Given the description of an element on the screen output the (x, y) to click on. 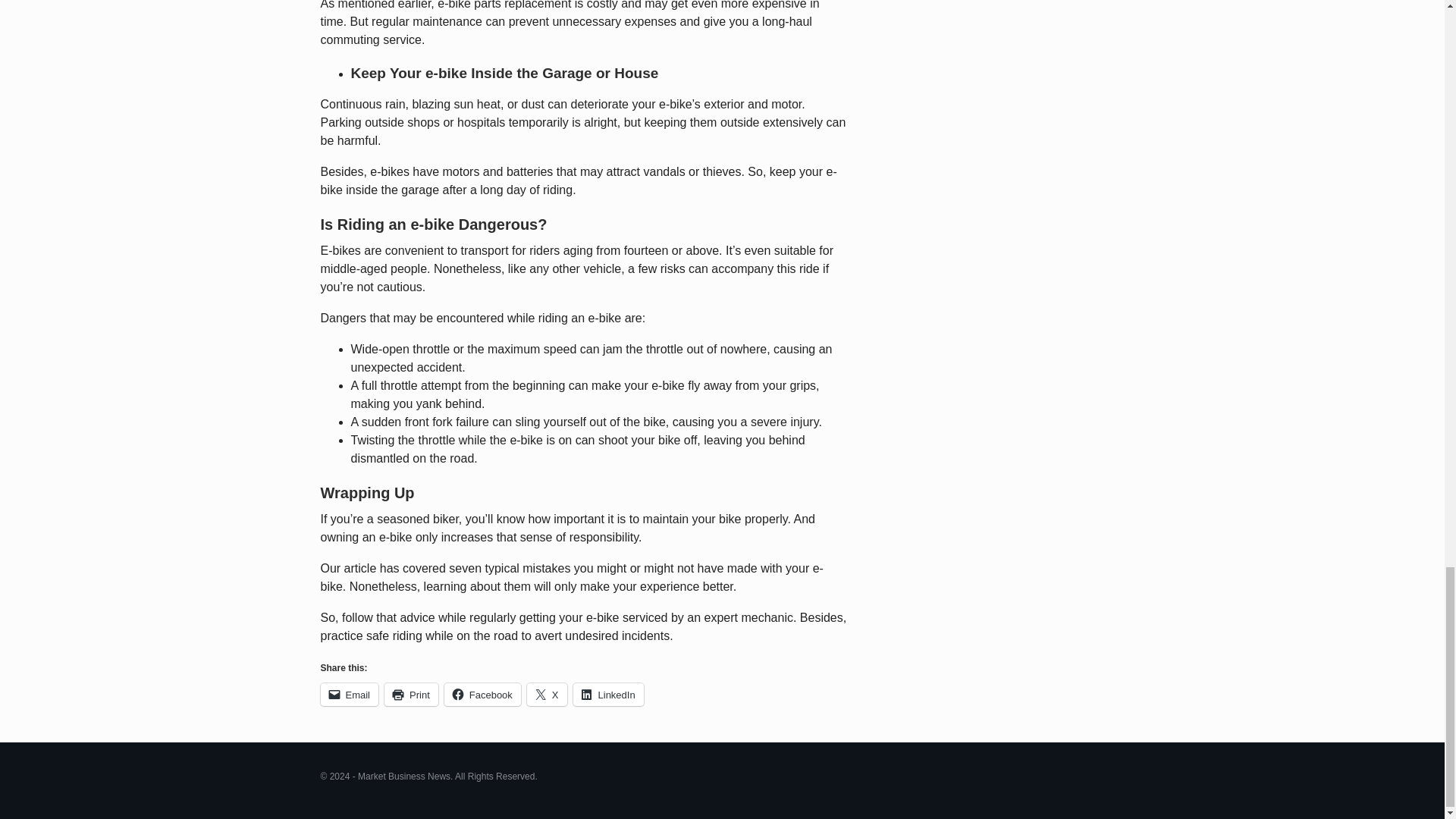
X (547, 694)
Email (349, 694)
Click to share on X (547, 694)
LinkedIn (608, 694)
Click to print (411, 694)
Click to share on Facebook (482, 694)
Click to share on LinkedIn (608, 694)
Facebook (482, 694)
Print (411, 694)
Click to email a link to a friend (349, 694)
